Given the description of an element on the screen output the (x, y) to click on. 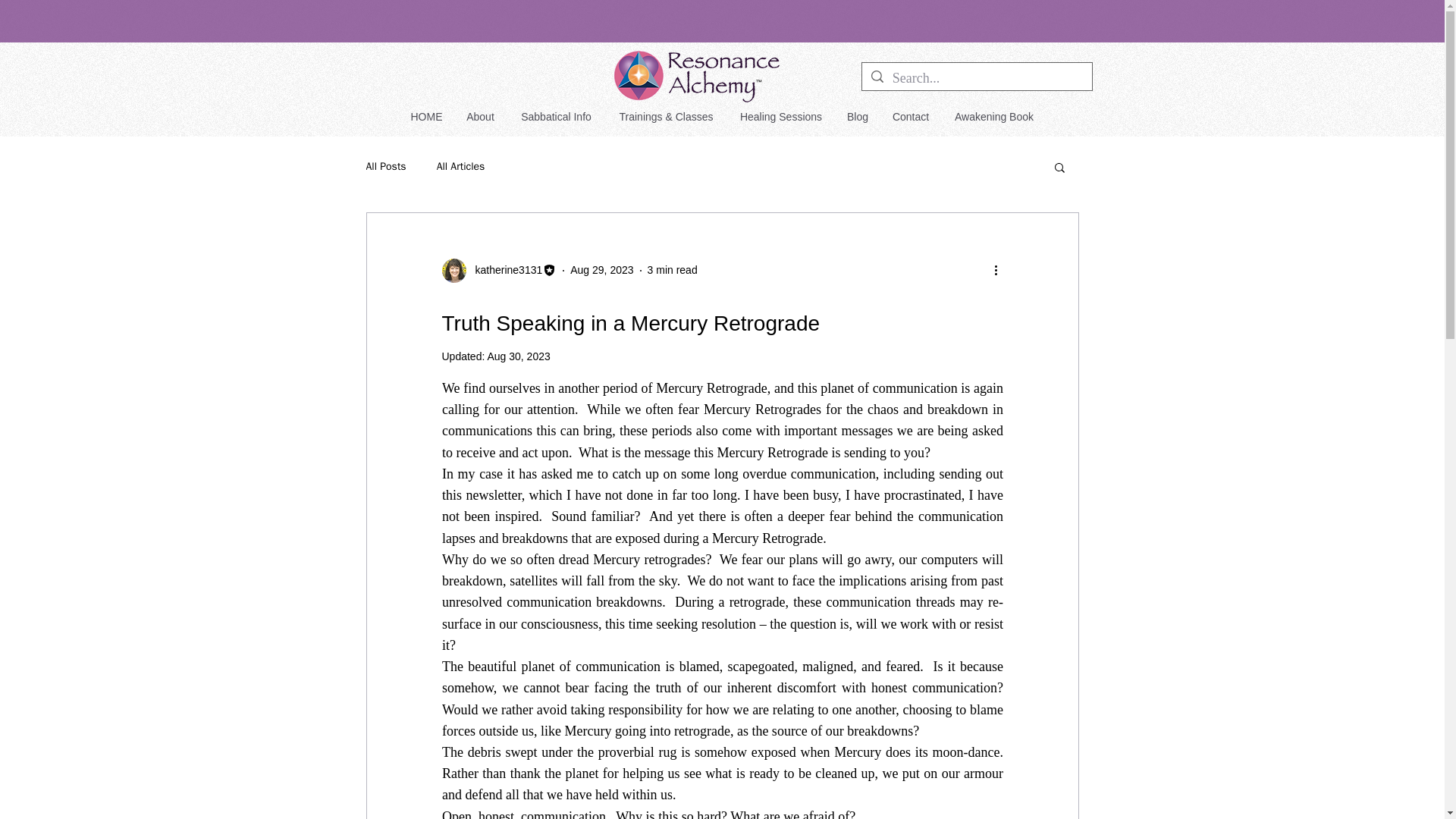
Blog (857, 116)
Aug 30, 2023 (518, 356)
katherine3131 (498, 270)
All Articles (460, 166)
katherine3131 (503, 270)
Contact (909, 116)
HOME (425, 116)
Sabbatical Info (555, 116)
About (479, 116)
All Posts (385, 166)
